Given the description of an element on the screen output the (x, y) to click on. 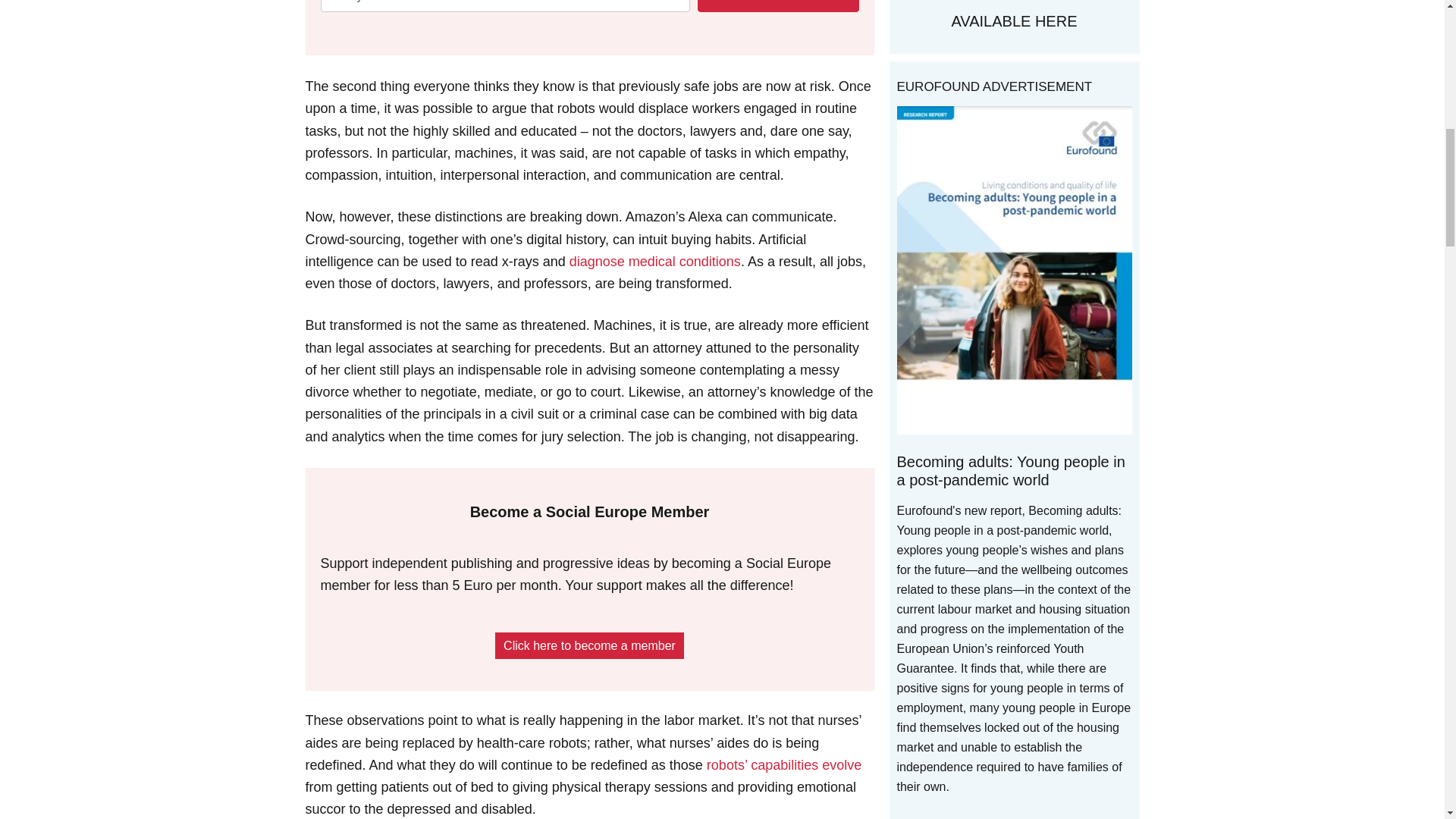
Subscribe (778, 6)
diagnose medical conditions (655, 261)
Click here to become a member (589, 645)
